Given the description of an element on the screen output the (x, y) to click on. 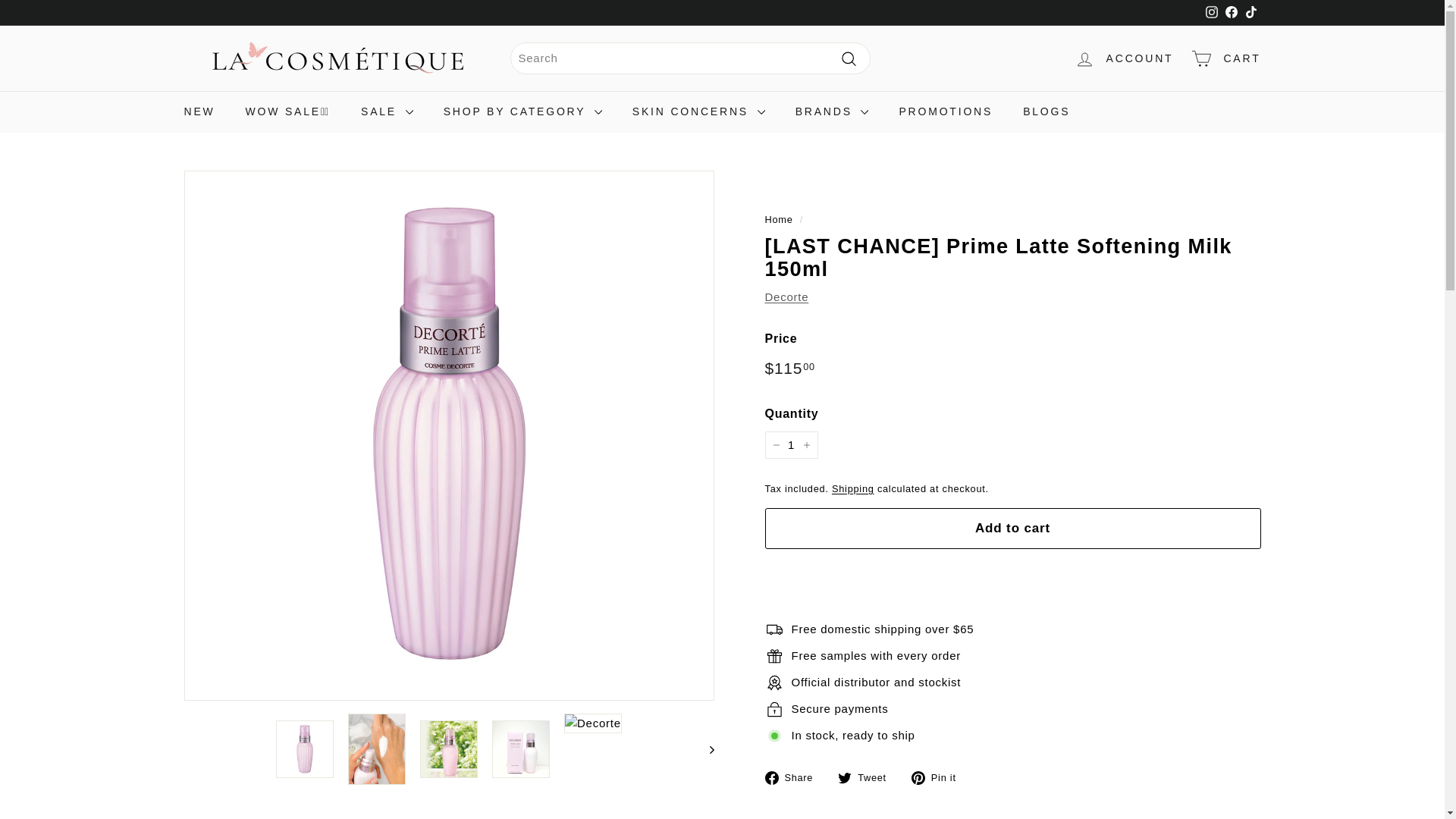
Back to the frontpage (778, 219)
twitter (844, 777)
Pin on Pinterest (939, 777)
CART (1225, 58)
Share on Facebook (794, 777)
NEW (199, 110)
Tweet on Twitter (868, 777)
ACCOUNT (1123, 58)
1 (790, 444)
instagram (1211, 11)
